Given the description of an element on the screen output the (x, y) to click on. 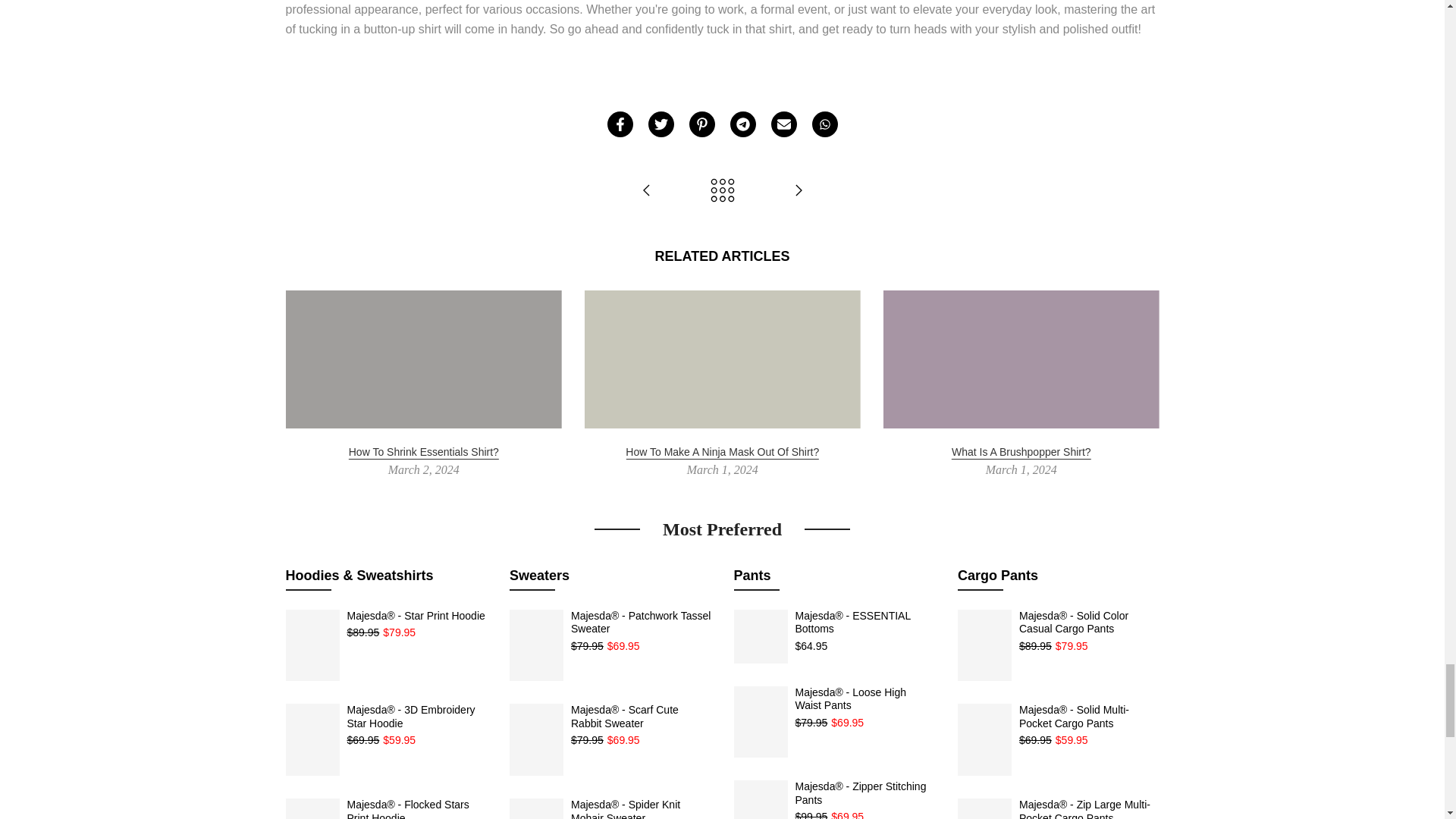
Share on WhatsApp (823, 124)
Share on Pinterest (701, 124)
Share on Telegram (742, 124)
Share on Twitter (659, 124)
What Color Pants With Beige Shirt? (646, 191)
Back to Shirts (722, 191)
Why Yes I Can Drive A Stick T Shirt? (797, 191)
Share on Facebook (619, 124)
Share on Email (783, 124)
